Given the description of an element on the screen output the (x, y) to click on. 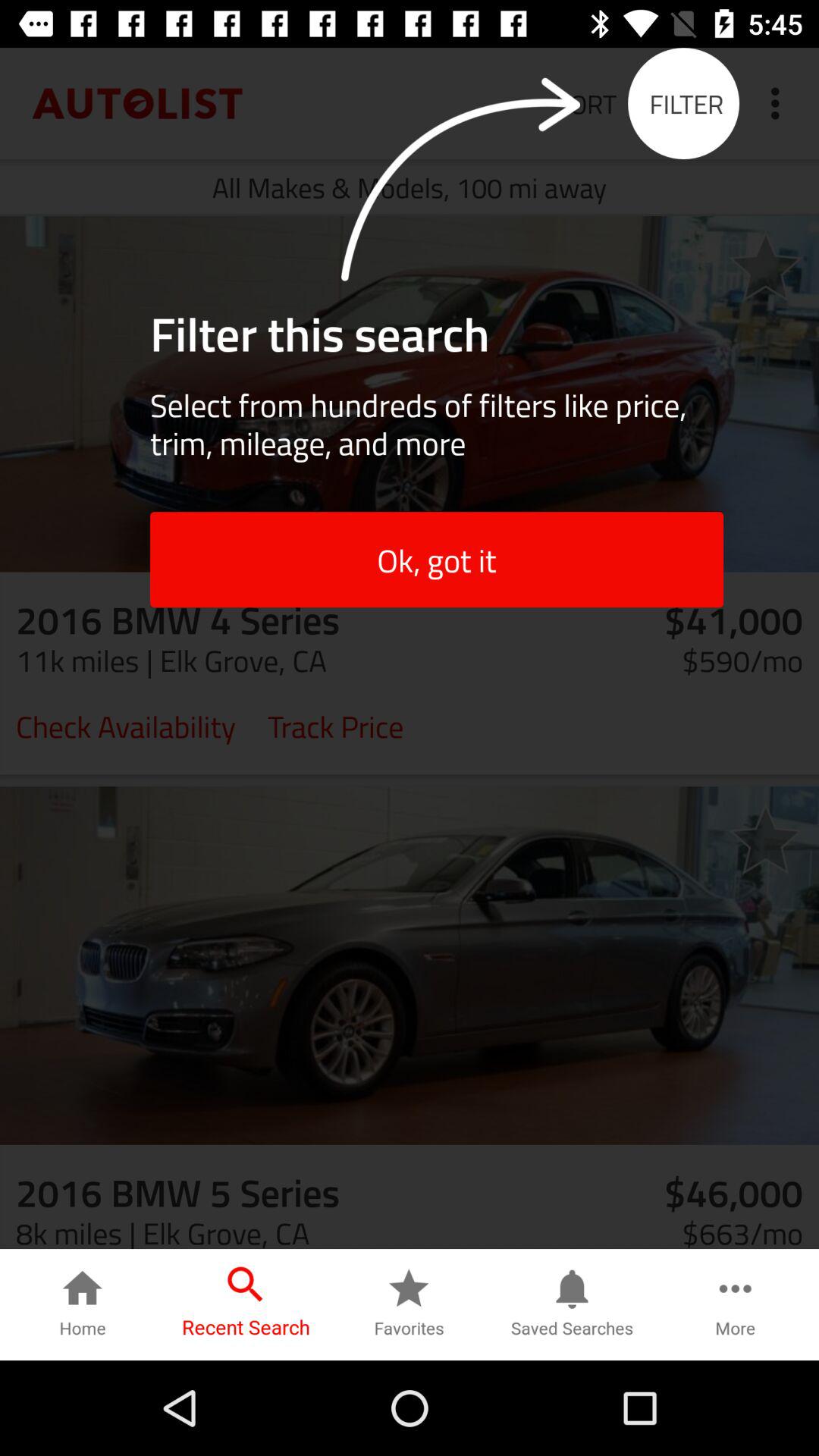
open icon next to the $590/mo (335, 725)
